Given the description of an element on the screen output the (x, y) to click on. 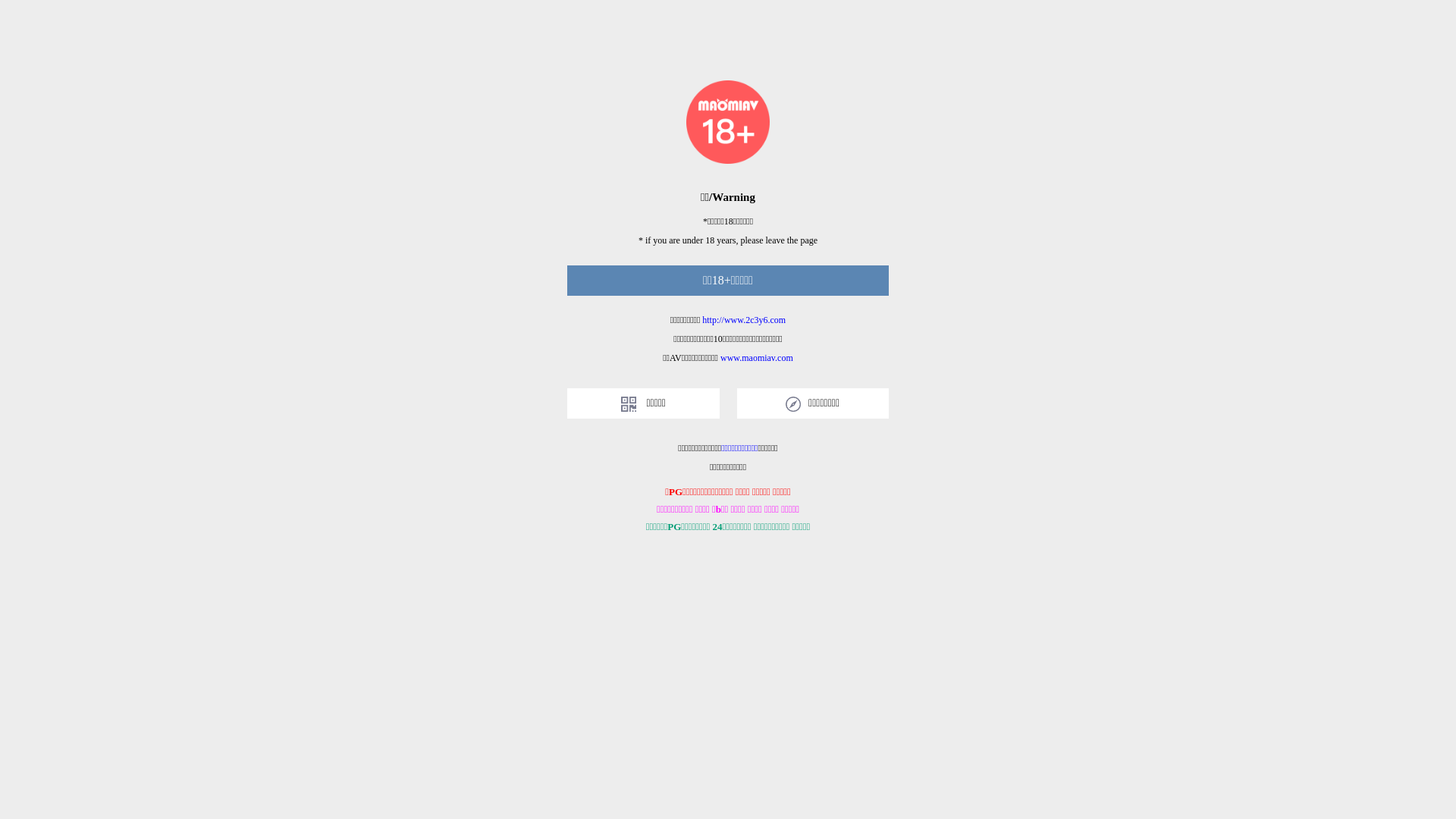
www.maomiav.com Element type: text (756, 357)
http://www.2c3y6.com Element type: text (743, 319)
